Given the description of an element on the screen output the (x, y) to click on. 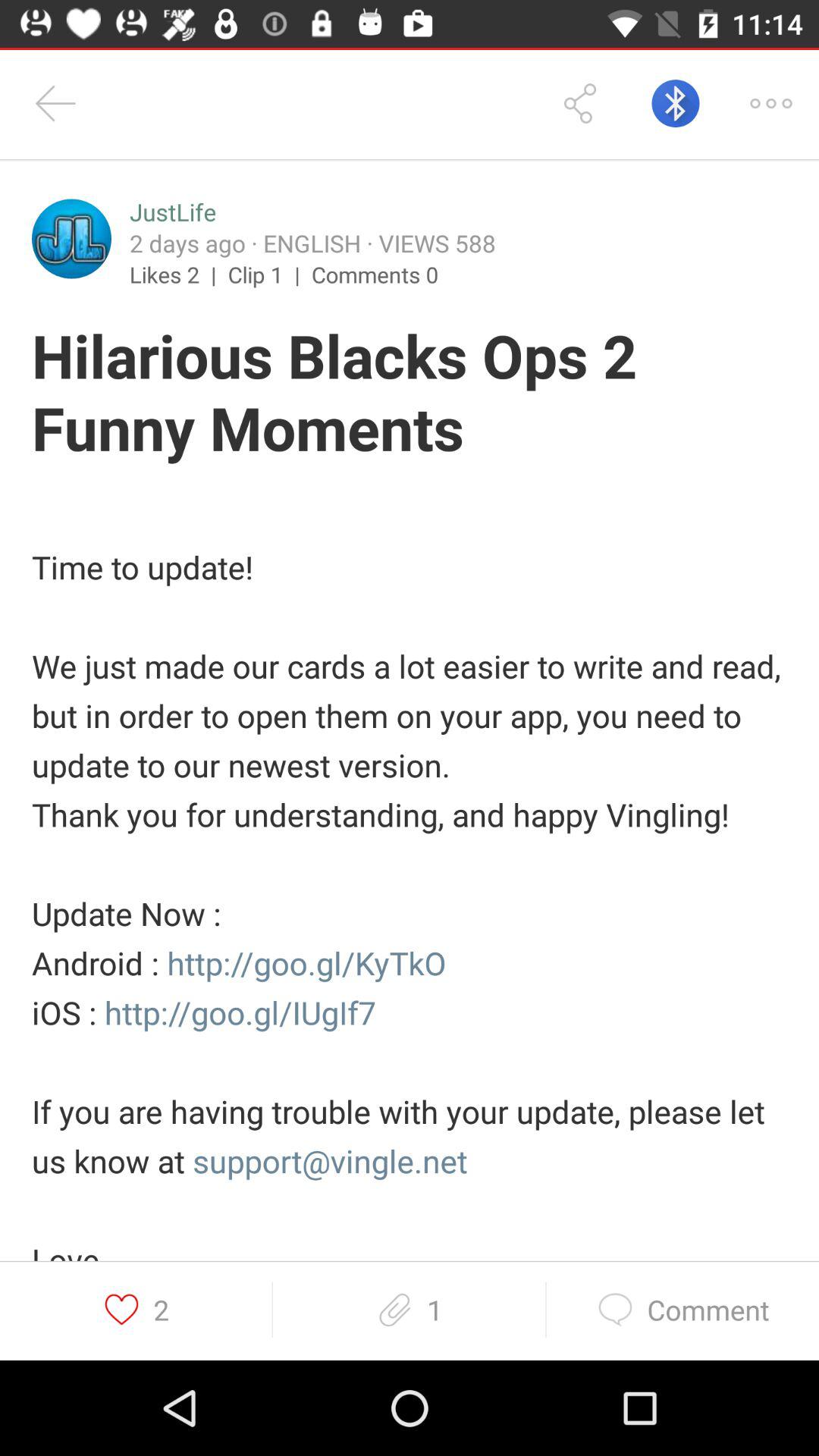
select icon to the right of likes 2  |   item (269, 274)
